Given the description of an element on the screen output the (x, y) to click on. 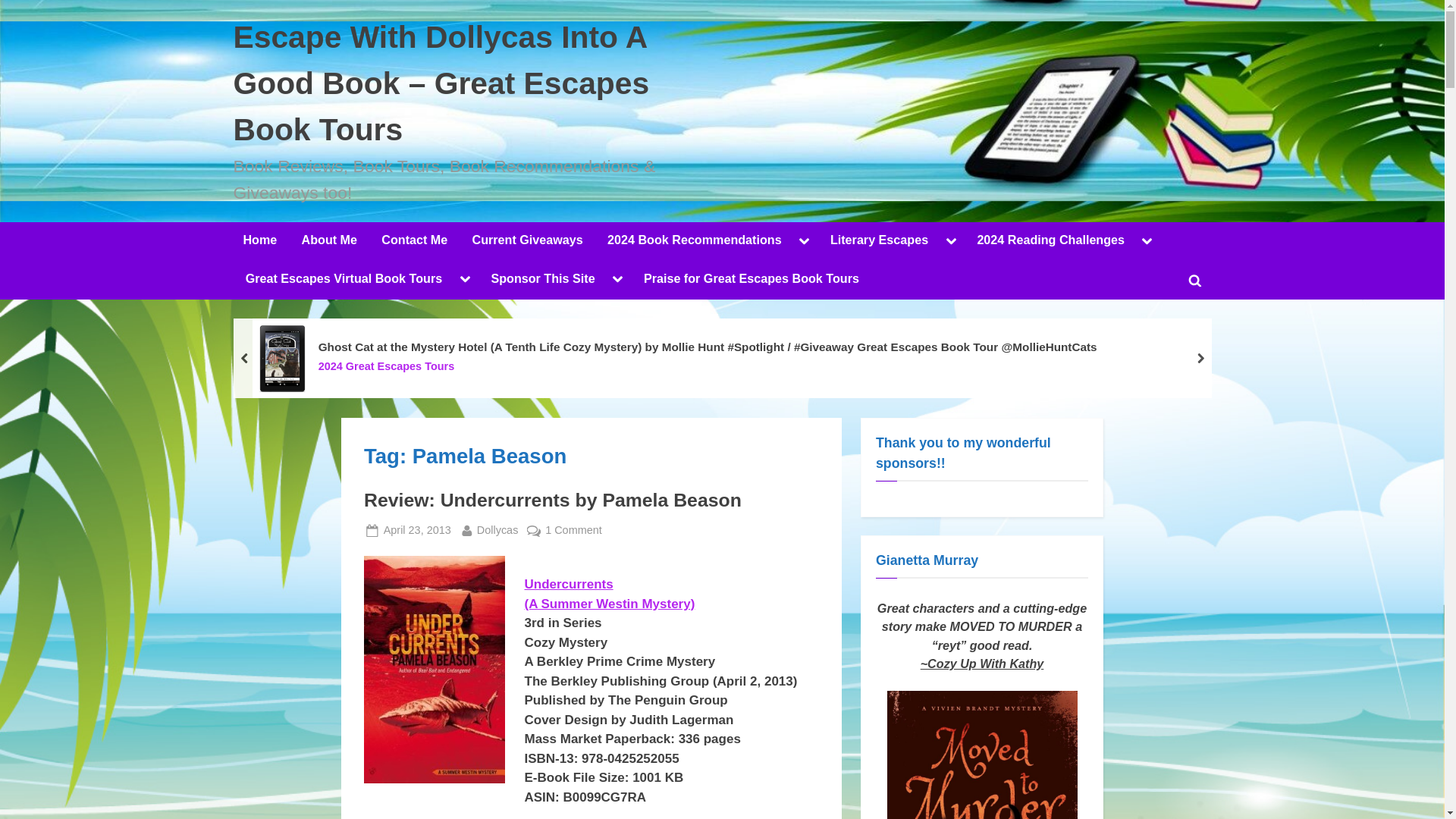
Current Giveaways (527, 241)
2024 Book Recommendations (693, 241)
About Me (329, 241)
Toggle sub-menu (804, 241)
Home (259, 241)
Contact Me (414, 241)
Literary Escapes (879, 241)
Toggle sub-menu (950, 241)
